Given the description of an element on the screen output the (x, y) to click on. 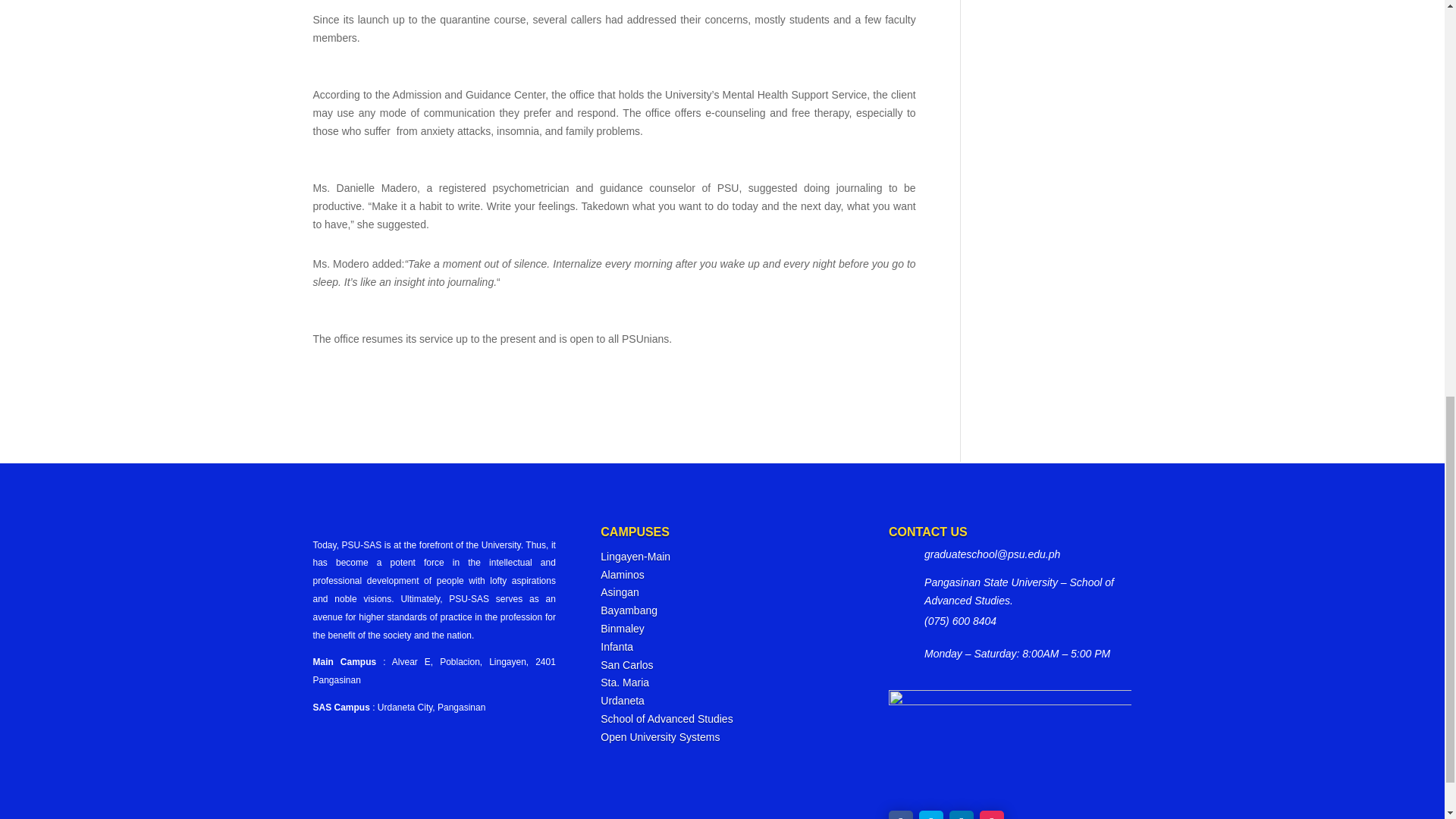
Pangasinan State University Alaminos Campus (622, 574)
Pangasinan State University Infanta Campus (616, 646)
Pangasinan State University Lingayen Campus (634, 556)
Pangasinan State University School for Advanced Studies (665, 718)
Pangasinan State University San Carlos Campus (625, 664)
Pangasinan State University Binmaley Campus (622, 628)
Pangasinan State University Urdaneta Campus (622, 700)
Pangasinan State University Bayambang Campus (628, 610)
Pangasinan State University Sta Maria Campus (624, 682)
Pangasinan State University Open University Systems (659, 736)
